Given the description of an element on the screen output the (x, y) to click on. 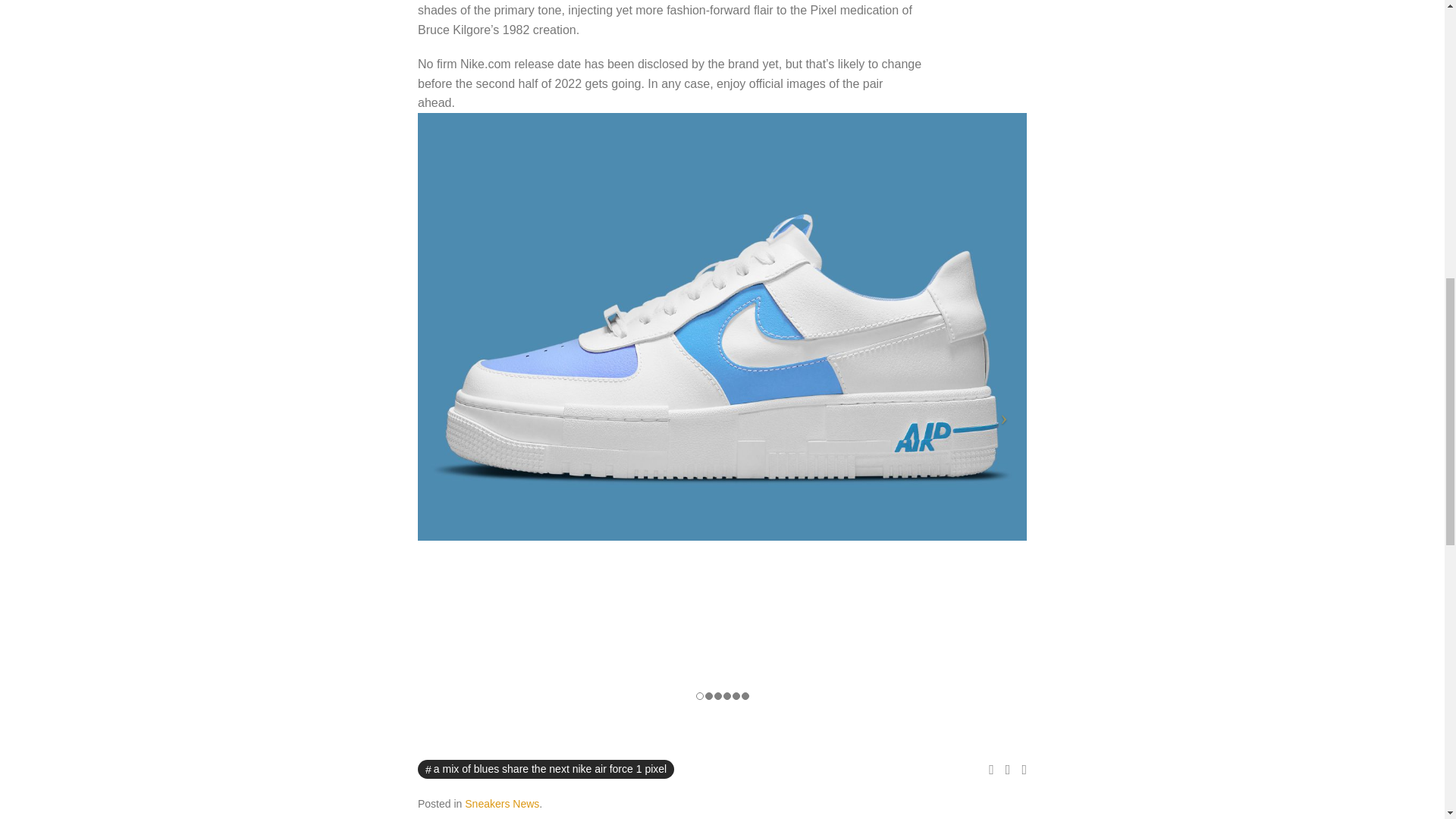
a mix of blues share the next nike air force 1 pixel (545, 769)
Sneakers News (501, 803)
